Given the description of an element on the screen output the (x, y) to click on. 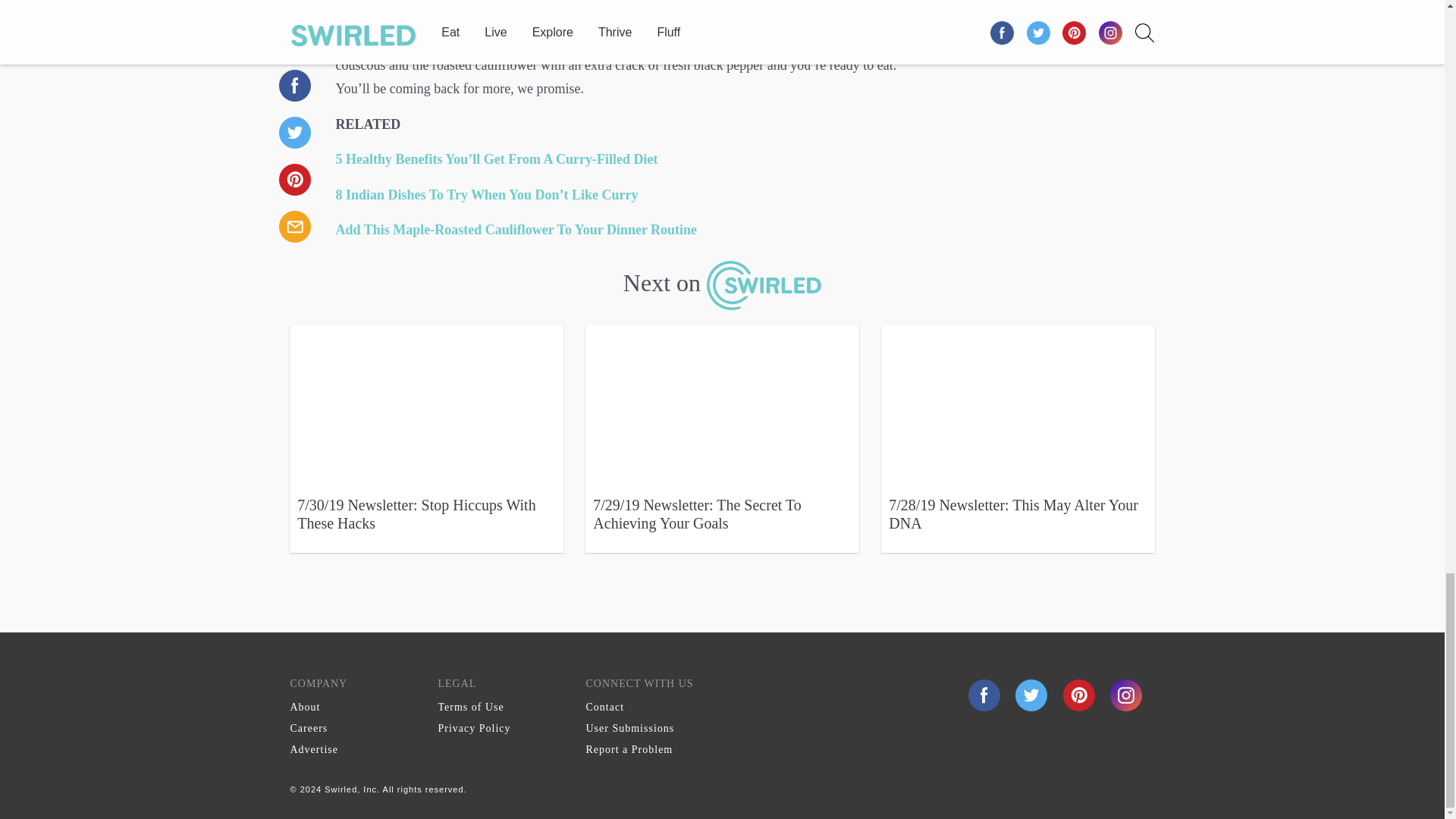
Instagram (1125, 694)
Facebook (984, 694)
Twitter (1033, 694)
Pinterest (1081, 694)
